Given the description of an element on the screen output the (x, y) to click on. 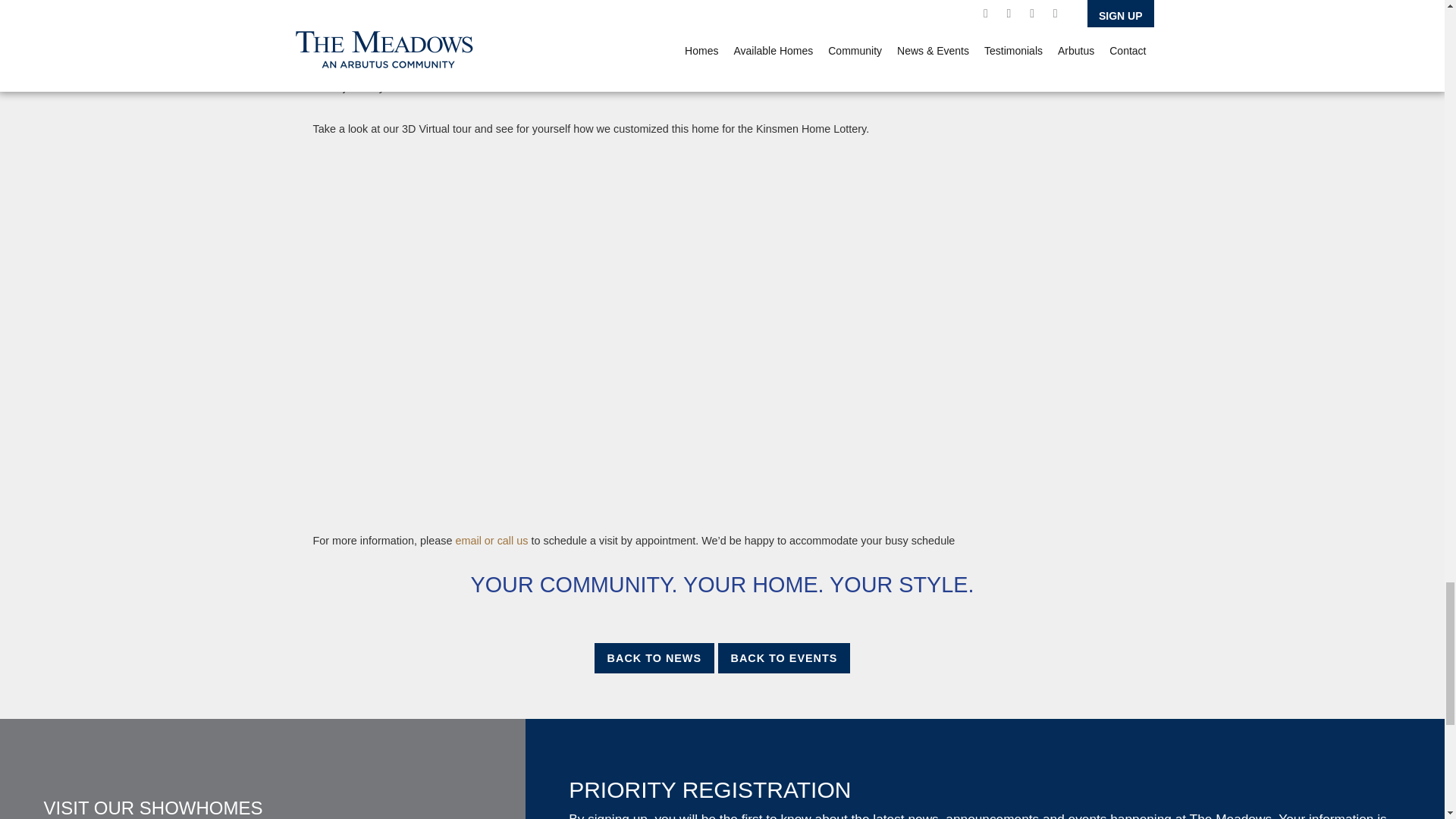
BACK TO NEWS (654, 657)
BACK TO EVENTS (783, 657)
 email or call us (489, 540)
